Given the description of an element on the screen output the (x, y) to click on. 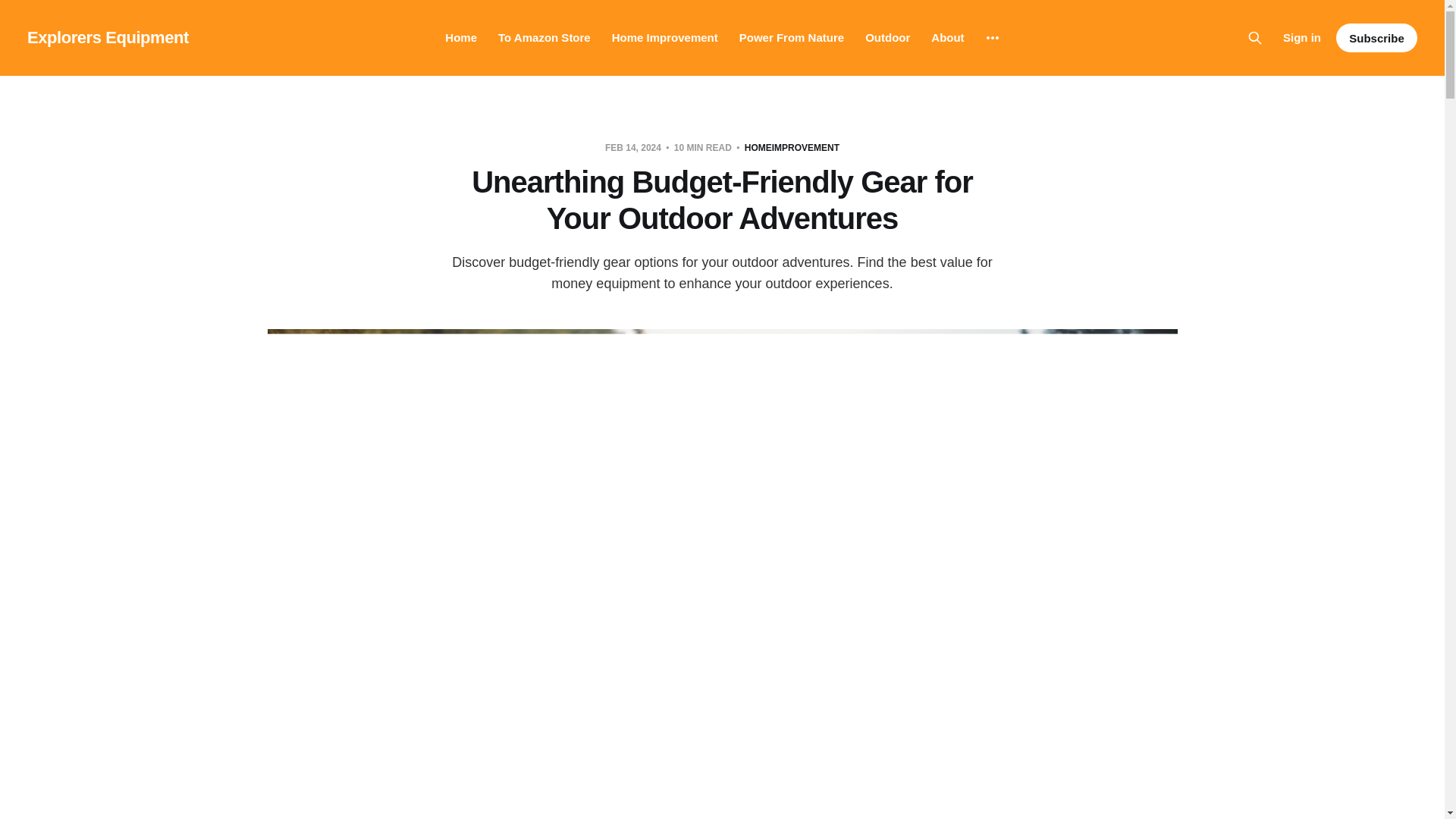
Outdoor (887, 37)
Power From Nature (791, 37)
Explorers Equipment (108, 37)
Sign in (1301, 37)
Home (461, 37)
To Amazon Store (544, 37)
Subscribe (1376, 37)
HOMEIMPROVEMENT (792, 147)
About (947, 37)
Home Improvement (664, 37)
